Given the description of an element on the screen output the (x, y) to click on. 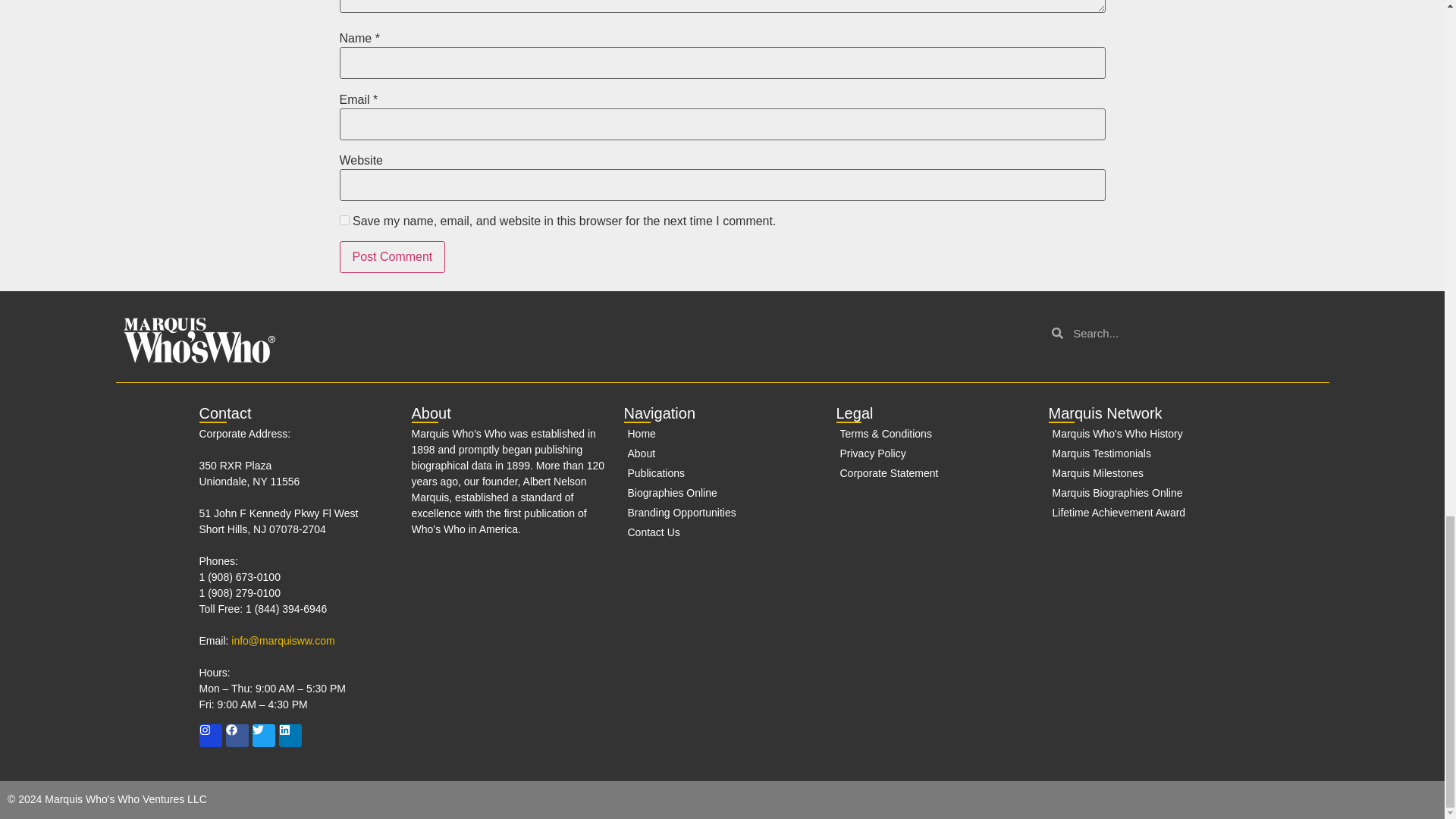
yes (344, 220)
Post Comment (392, 256)
Publications (722, 473)
Home (722, 433)
Biographies Online (722, 493)
About (722, 453)
Post Comment (392, 256)
